Given the description of an element on the screen output the (x, y) to click on. 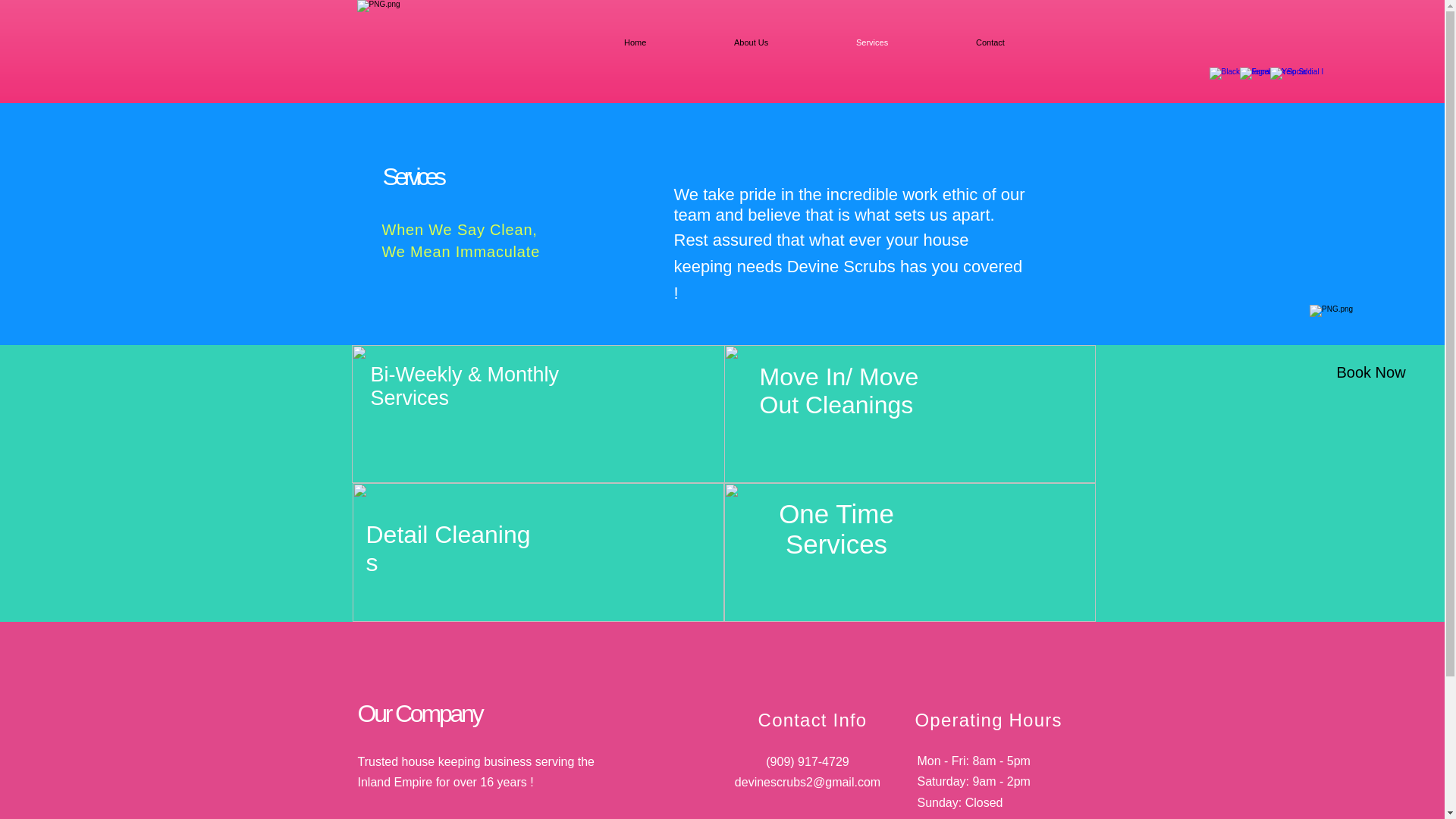
About Us (783, 42)
Services (903, 42)
Contact (1021, 42)
Book Now (1370, 372)
Home (667, 42)
